Given the description of an element on the screen output the (x, y) to click on. 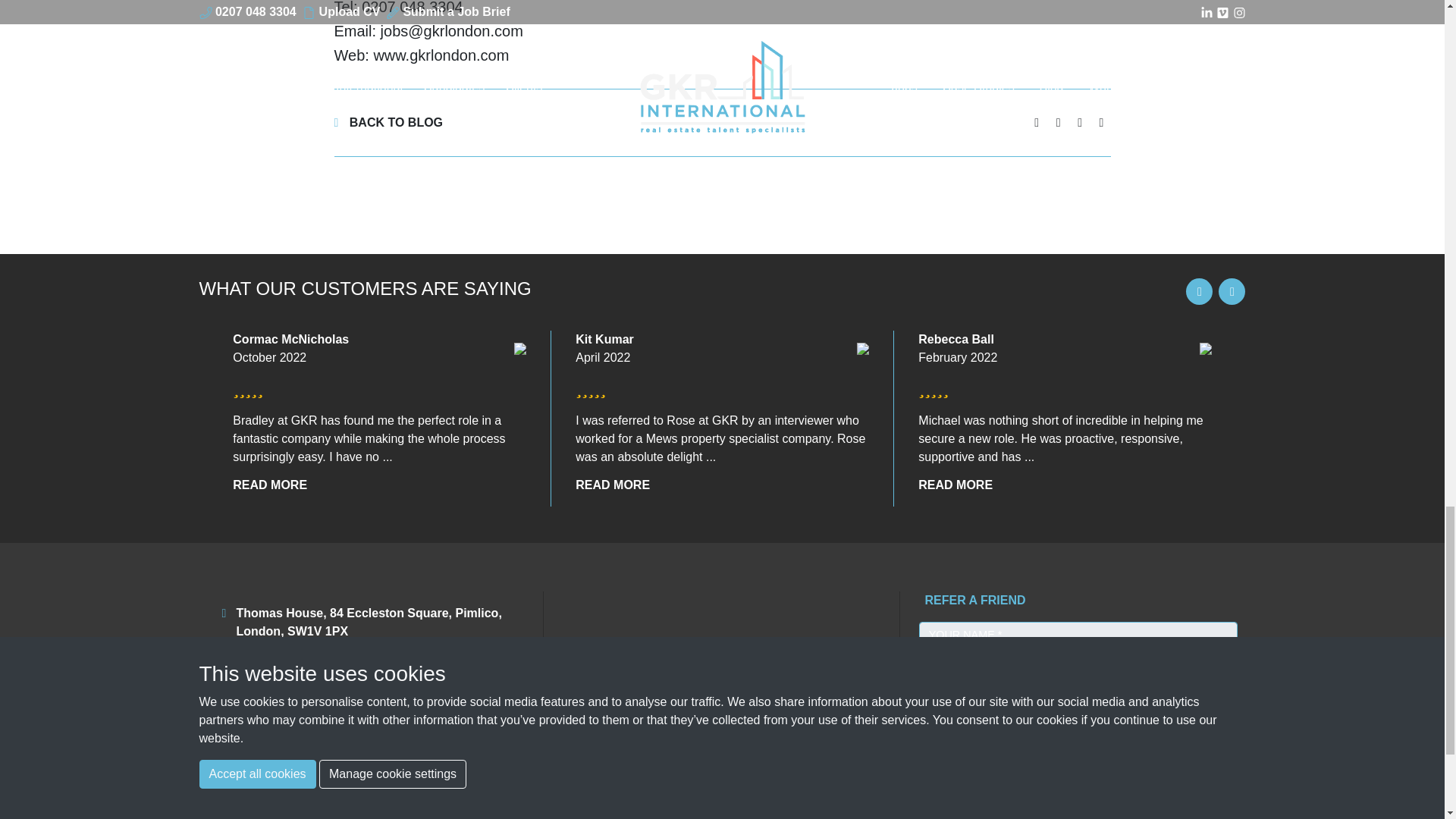
1 (923, 786)
